Given the description of an element on the screen output the (x, y) to click on. 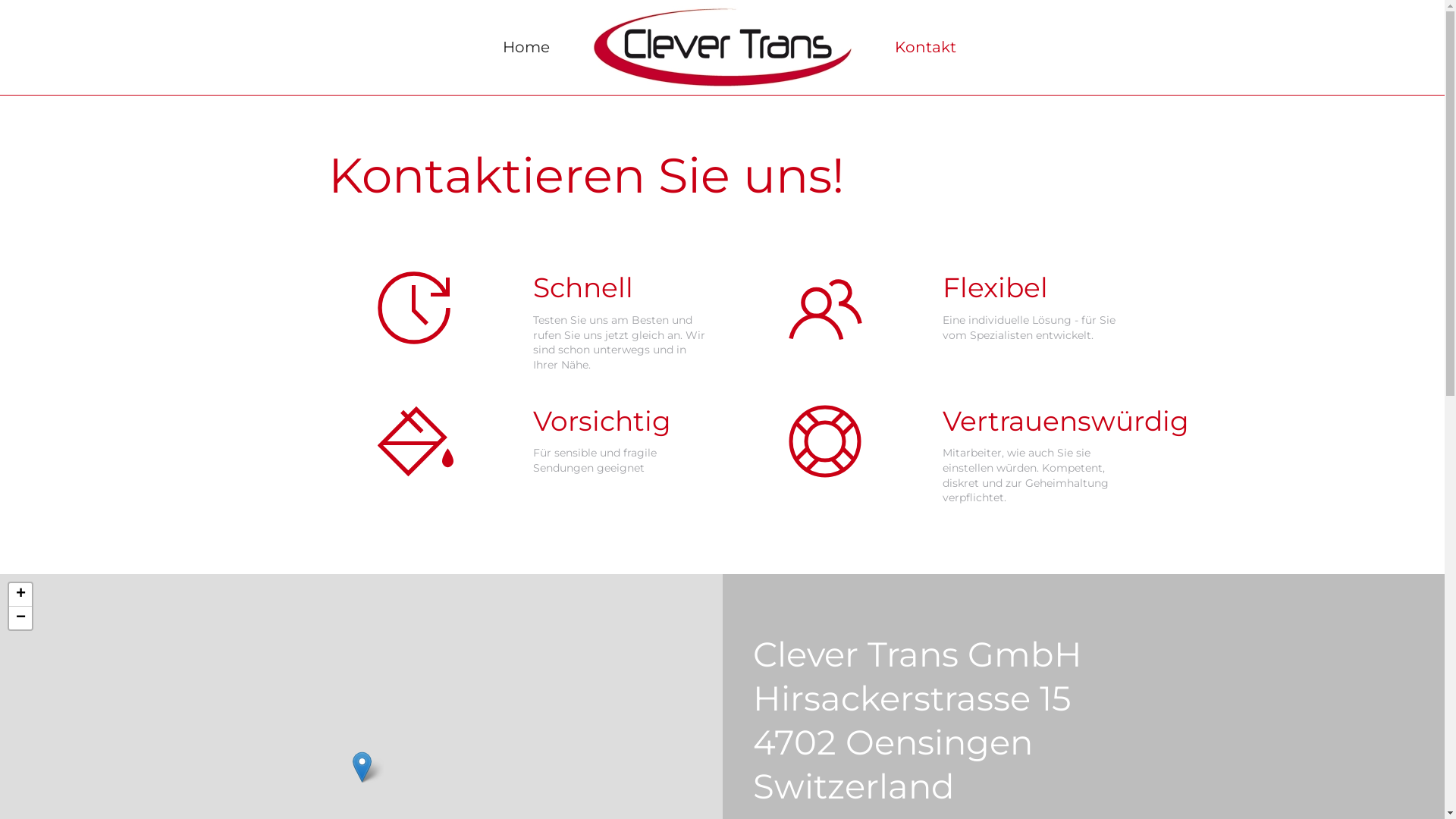
Oensingen, CH Element type: hover (361, 766)
Home Element type: text (525, 47)
+ Element type: text (20, 594)
Kontakt Element type: text (925, 47)
